Given the description of an element on the screen output the (x, y) to click on. 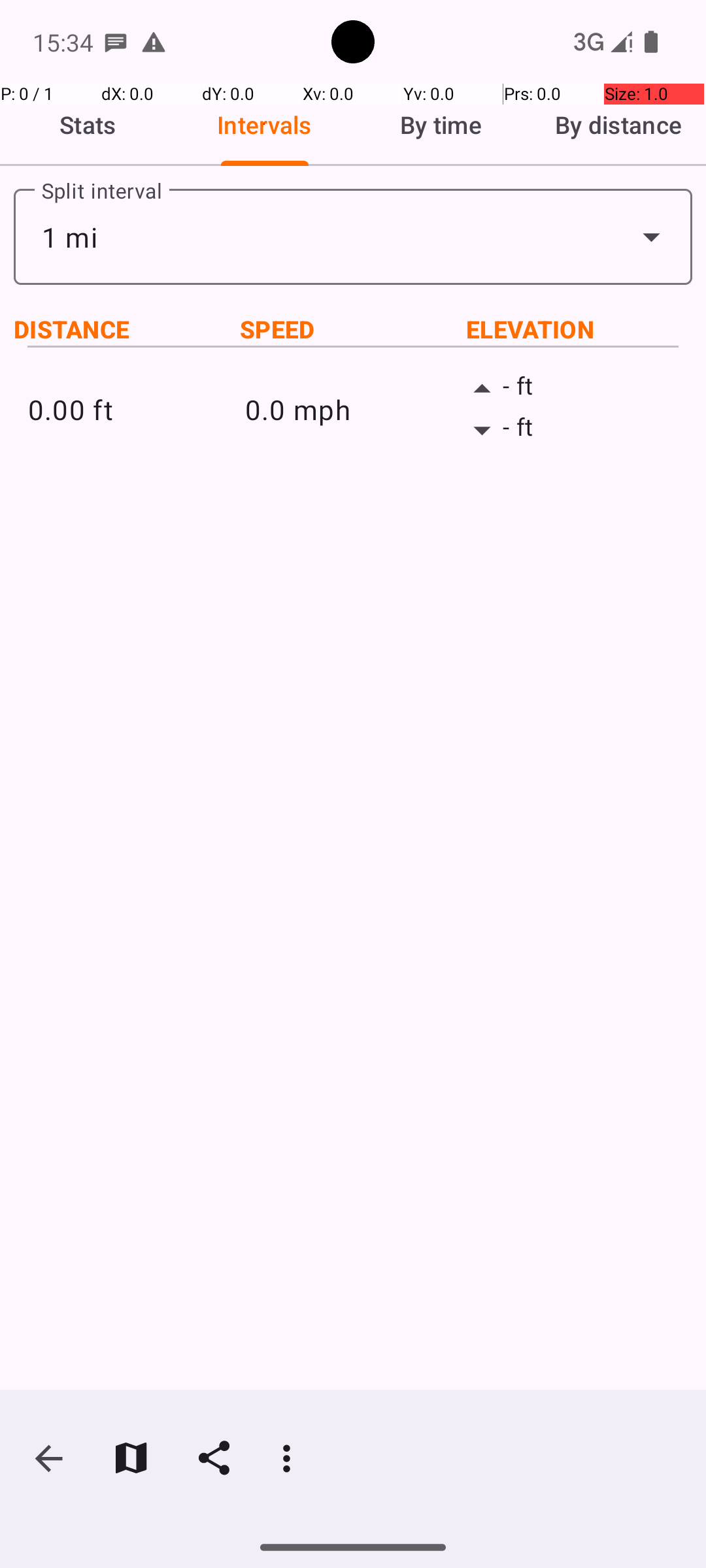
1 mi Element type: android.widget.Spinner (352, 236)
SPEED Element type: android.widget.TextView (352, 328)
ELEVATION Element type: android.widget.TextView (579, 328)
0.00 ft Element type: android.widget.TextView (135, 408)
0.0 mph Element type: android.widget.TextView (352, 408)
- ft Element type: android.widget.TextView (569, 388)
